Given the description of an element on the screen output the (x, y) to click on. 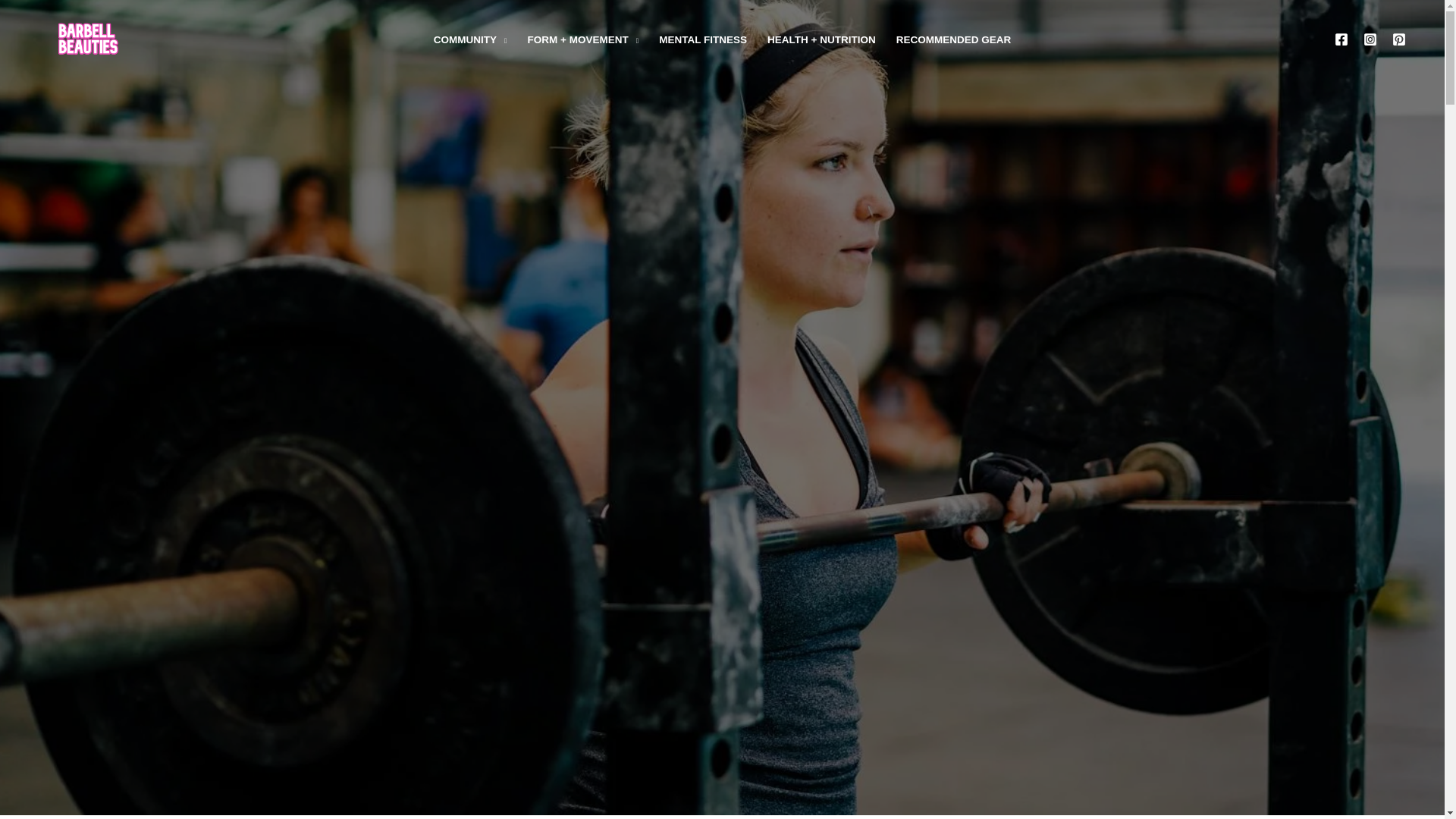
RECOMMENDED GEAR (953, 40)
COMMUNITY (469, 40)
MENTAL FITNESS (703, 40)
